Given the description of an element on the screen output the (x, y) to click on. 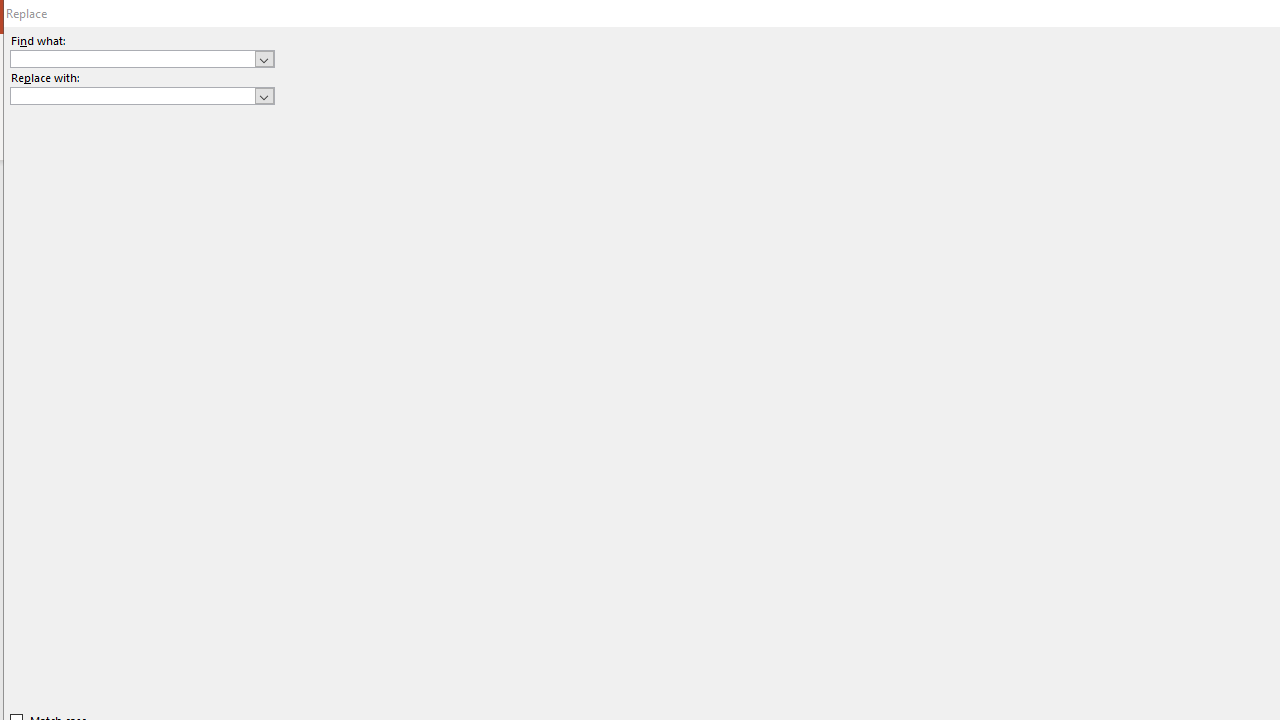
Find what (142, 58)
